Given the description of an element on the screen output the (x, y) to click on. 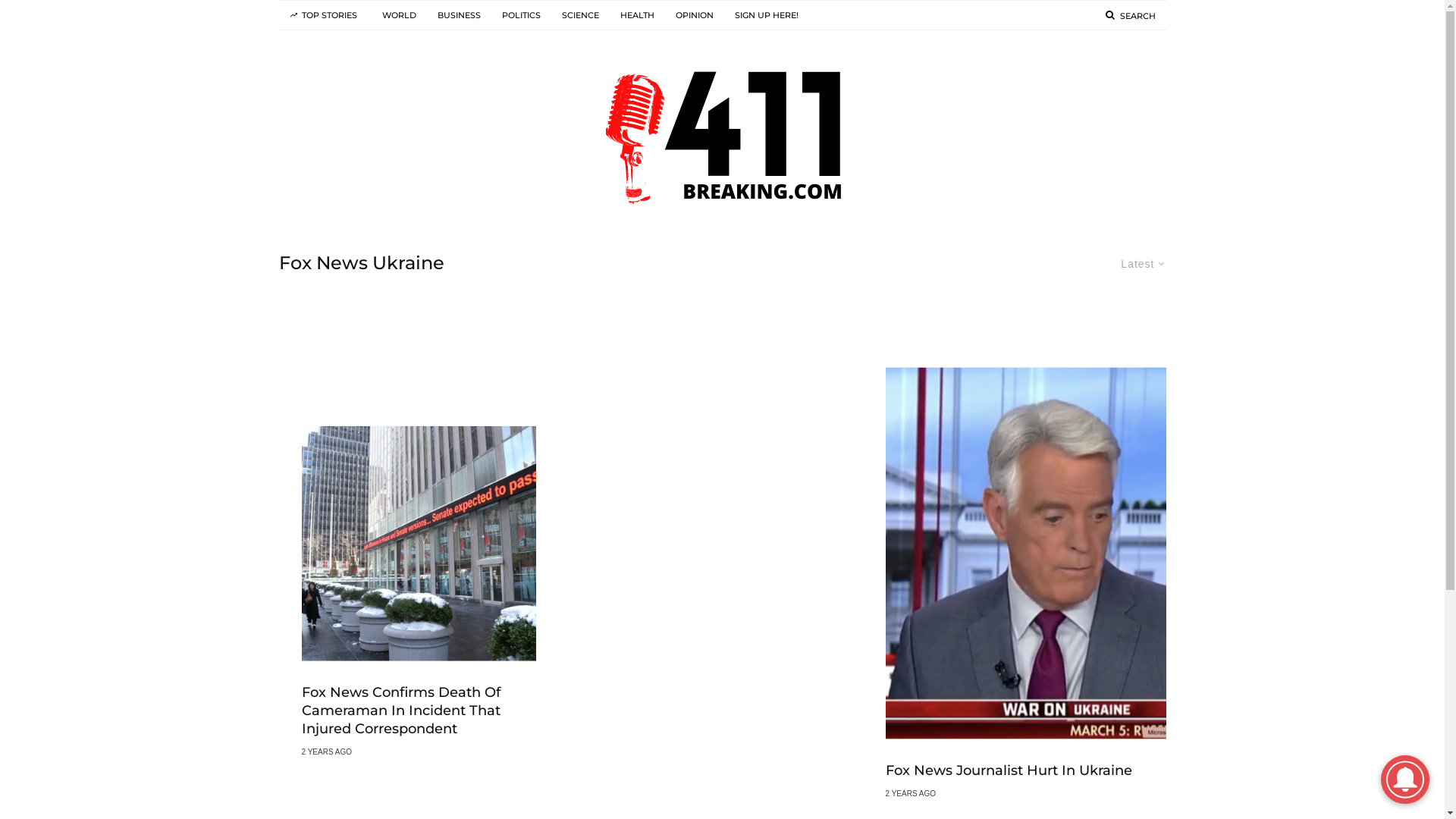
Fox News Journalist Hurt In Ukraine Element type: text (1008, 771)
SCIENCE Element type: text (579, 14)
POLITICS Element type: text (521, 14)
TOP STORIES Element type: text (323, 14)
WORLD Element type: text (398, 14)
HEALTH Element type: text (637, 14)
SEARCH Element type: text (1130, 15)
SIGN UP HERE! Element type: text (765, 14)
BUSINESS Element type: text (458, 14)
OPINION Element type: text (693, 14)
